Given the description of an element on the screen output the (x, y) to click on. 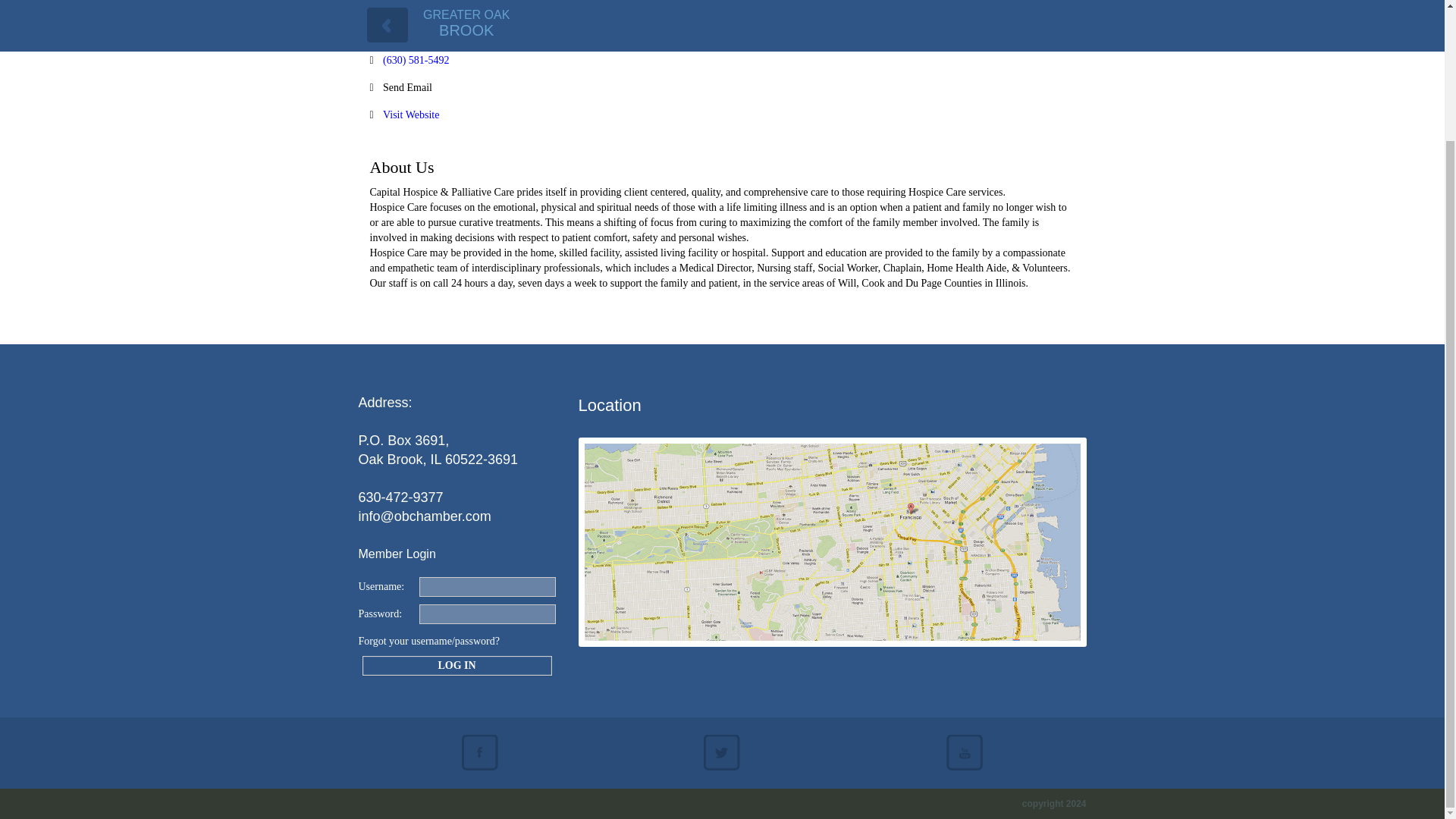
Log In (456, 664)
Send Email (407, 88)
Visit Website (410, 115)
Log In (456, 664)
